Given the description of an element on the screen output the (x, y) to click on. 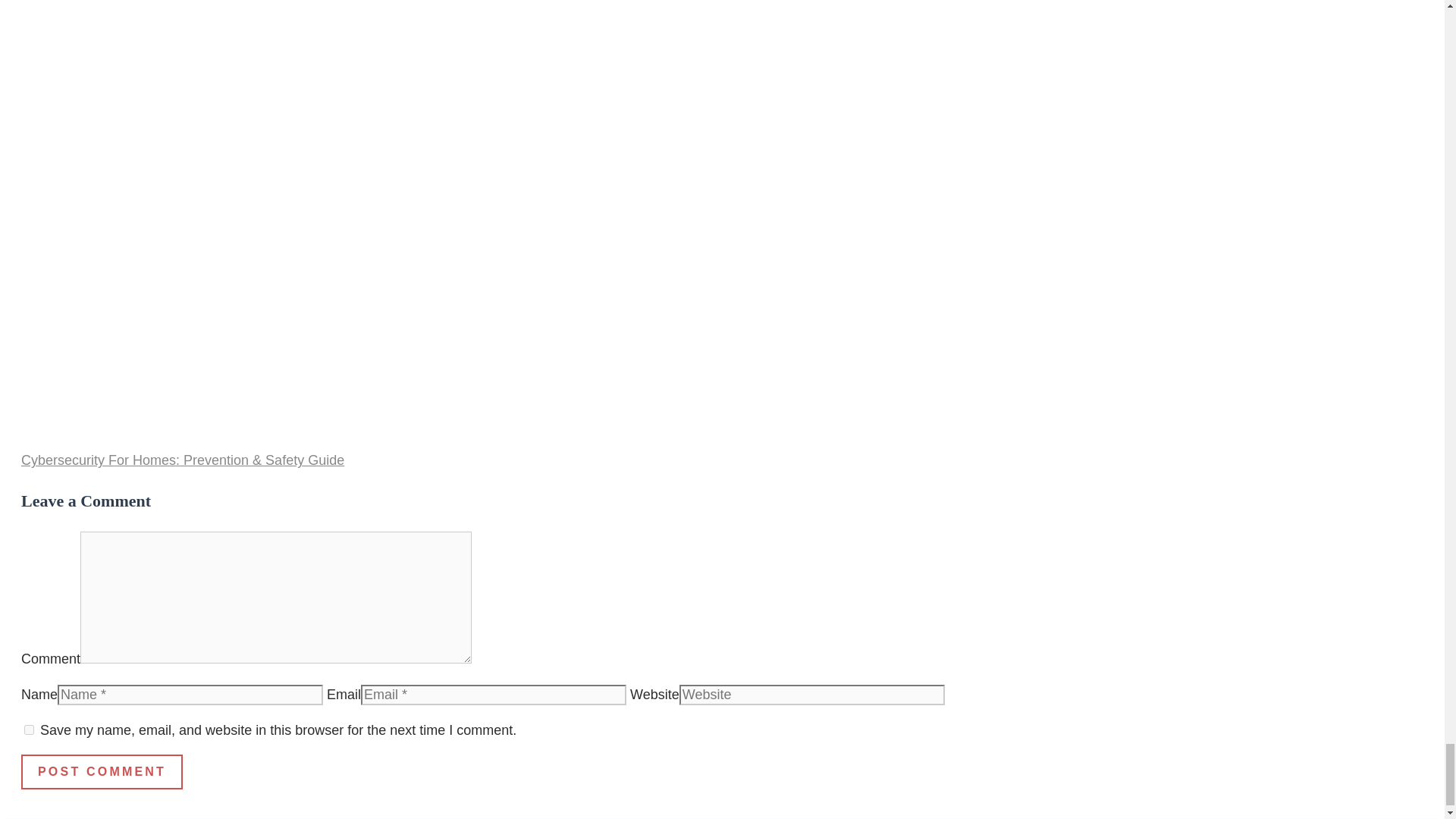
Post Comment (102, 771)
Post Comment (102, 771)
yes (28, 729)
Next (182, 459)
